Given the description of an element on the screen output the (x, y) to click on. 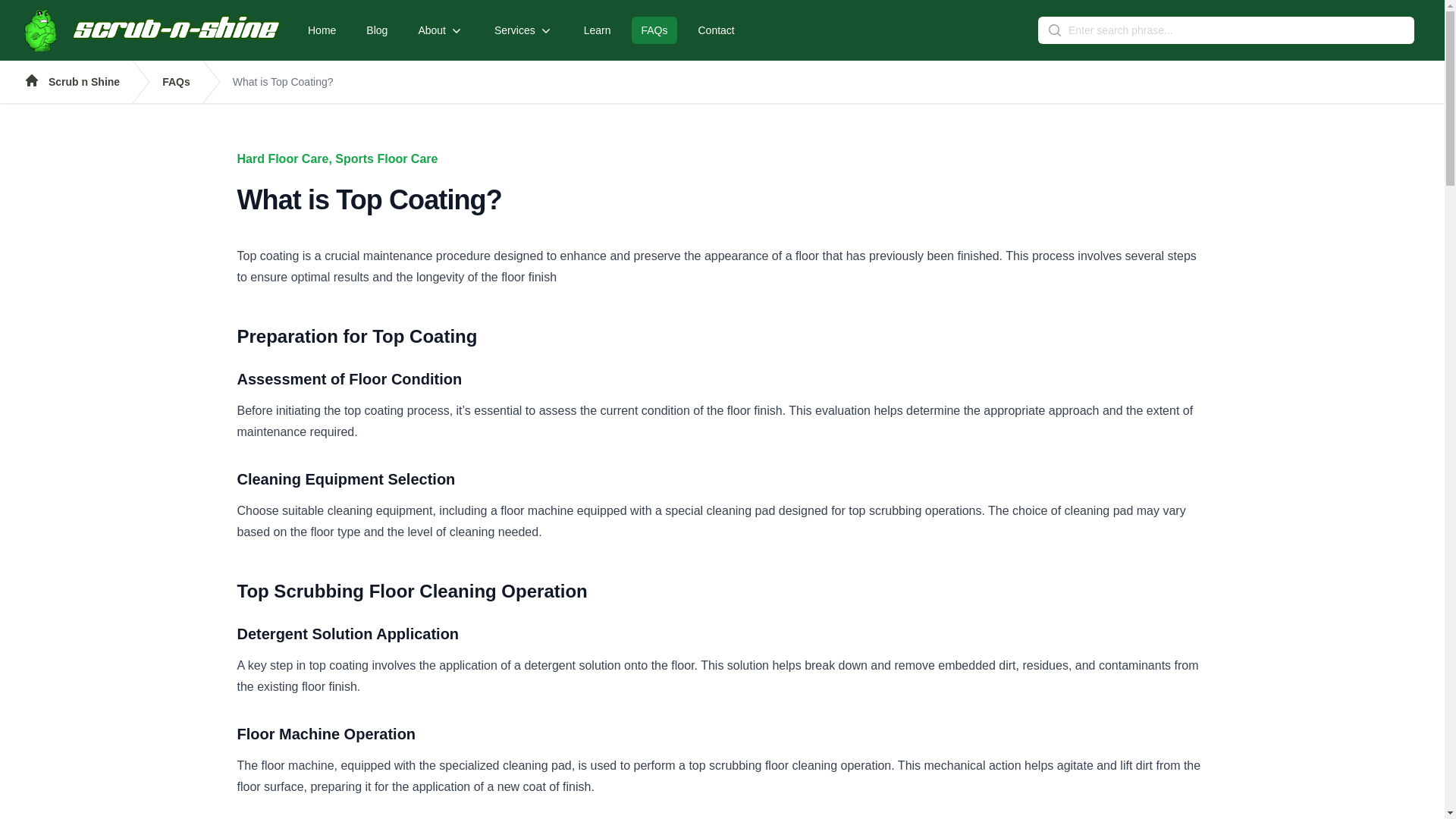
FAQs (175, 81)
Contact (715, 30)
FAQs (654, 30)
Learn (597, 30)
Home (321, 30)
Services (523, 30)
Scrub n Shine (71, 81)
Blog (376, 30)
About (441, 30)
